Given the description of an element on the screen output the (x, y) to click on. 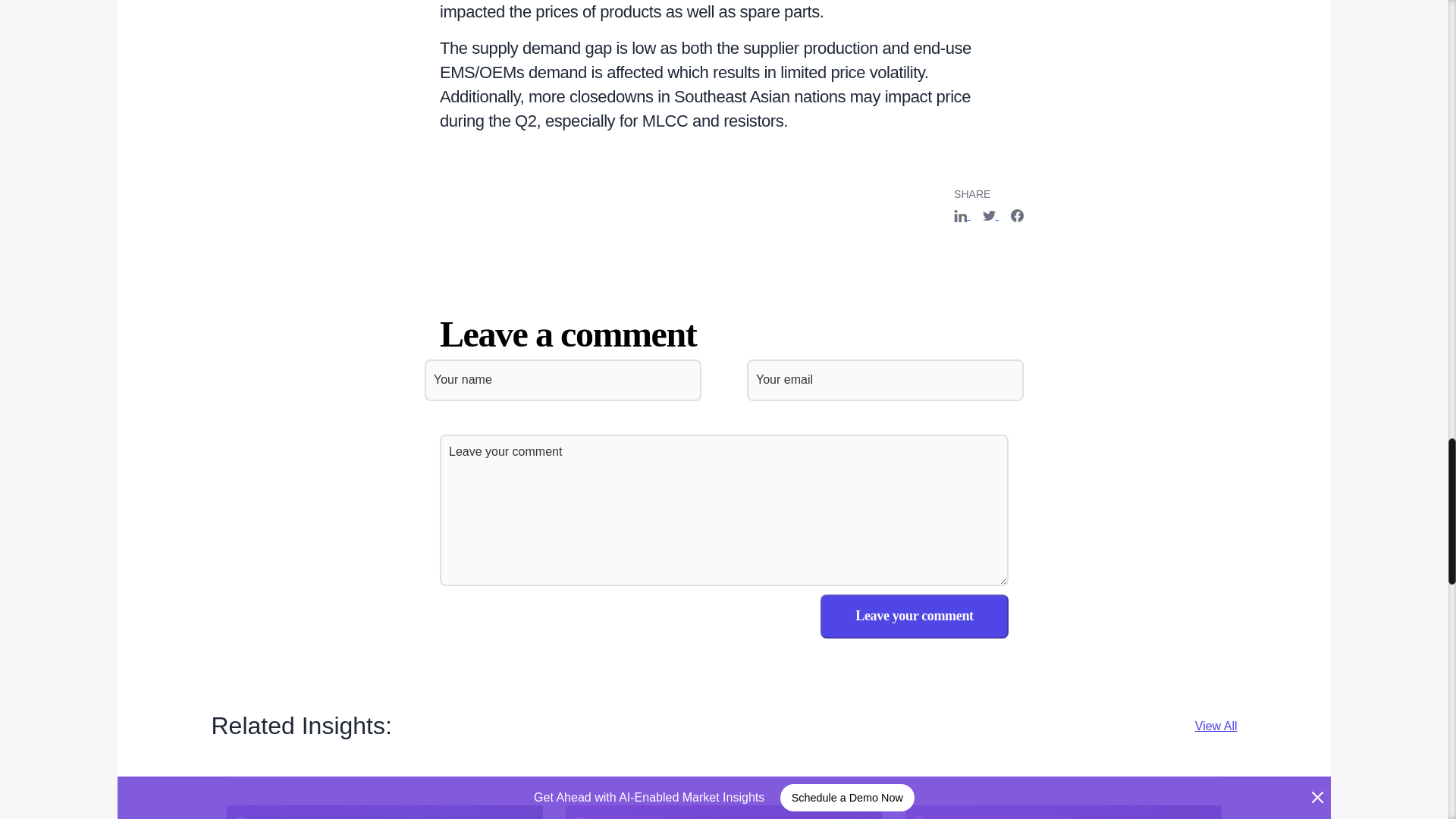
Leave your comment (915, 616)
Leave your comment (915, 616)
